Given the description of an element on the screen output the (x, y) to click on. 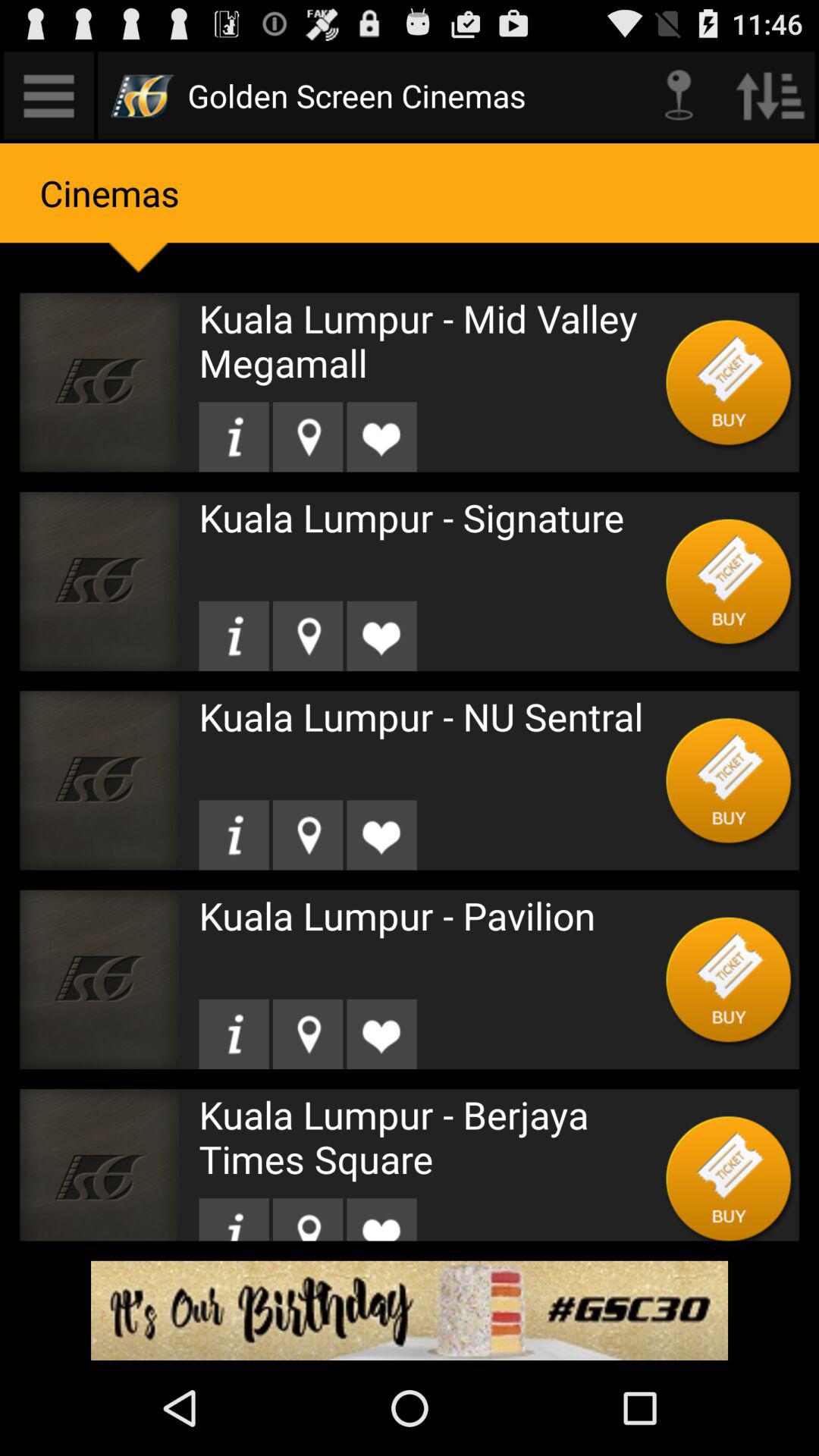
add to likes (381, 1219)
